Given the description of an element on the screen output the (x, y) to click on. 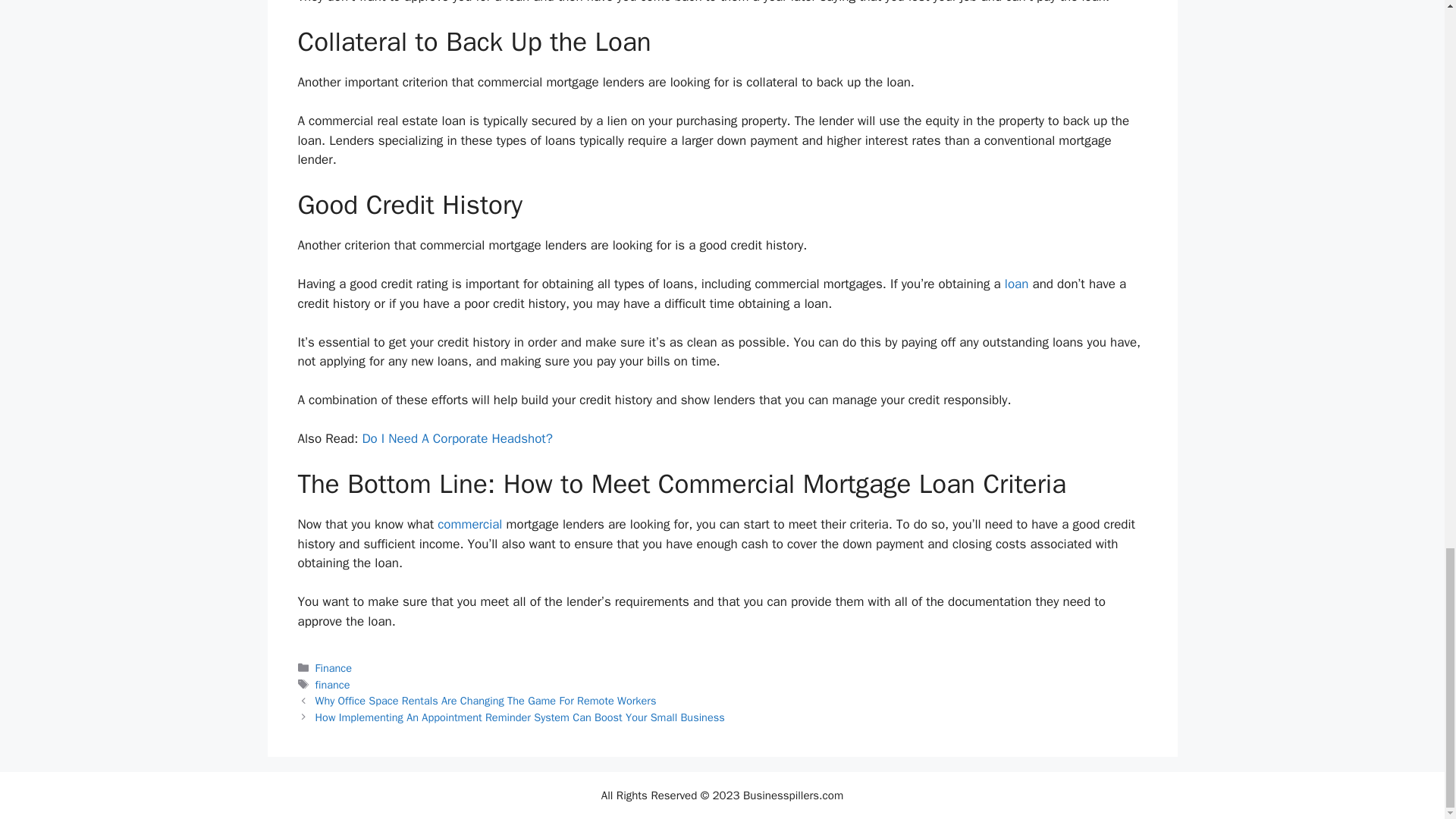
Do I Need A Corporate Headshot? (457, 438)
Finance (333, 667)
commercial (470, 524)
finance (332, 684)
loan (1016, 283)
